Given the description of an element on the screen output the (x, y) to click on. 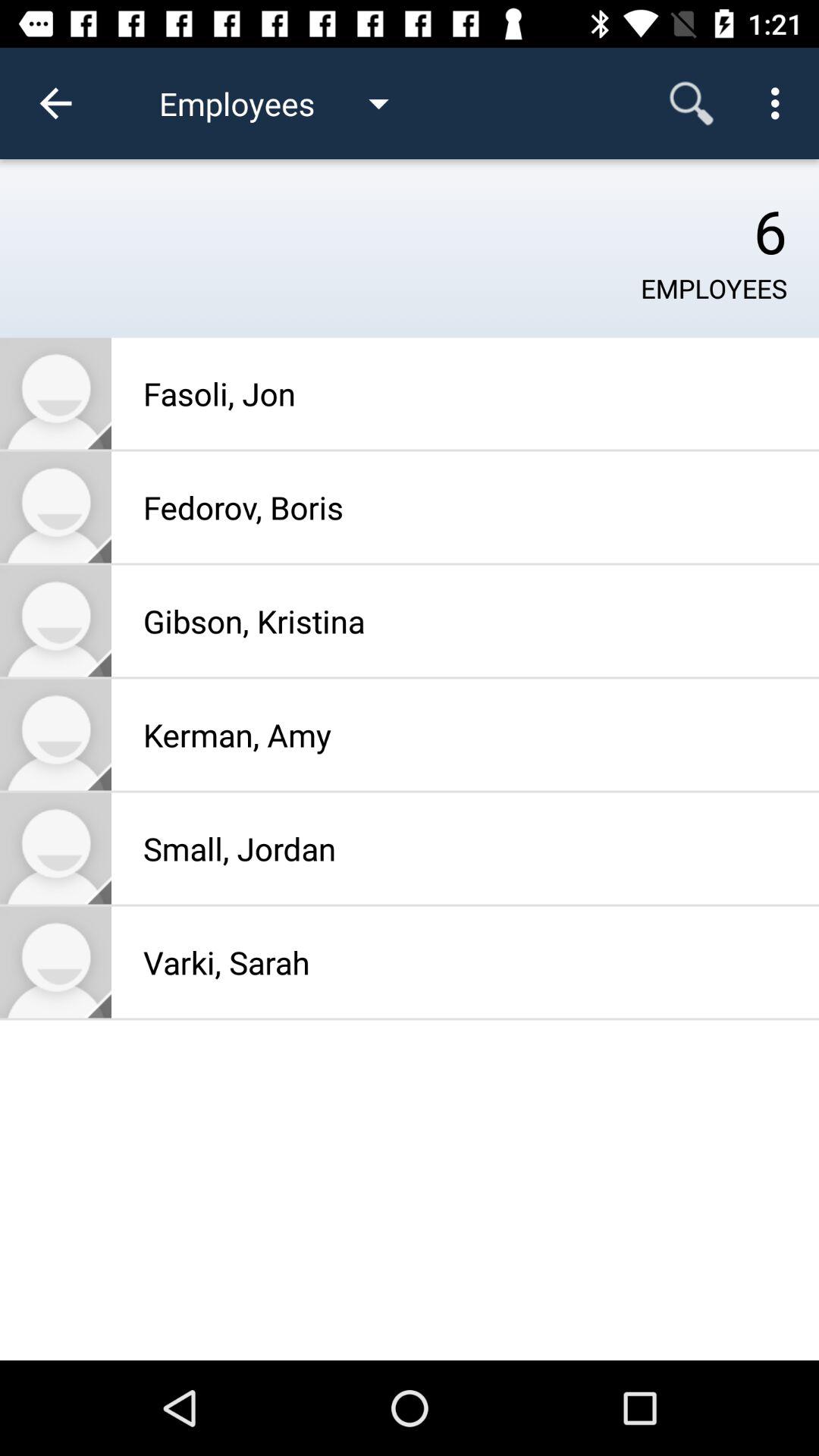
open employee profile (55, 734)
